Given the description of an element on the screen output the (x, y) to click on. 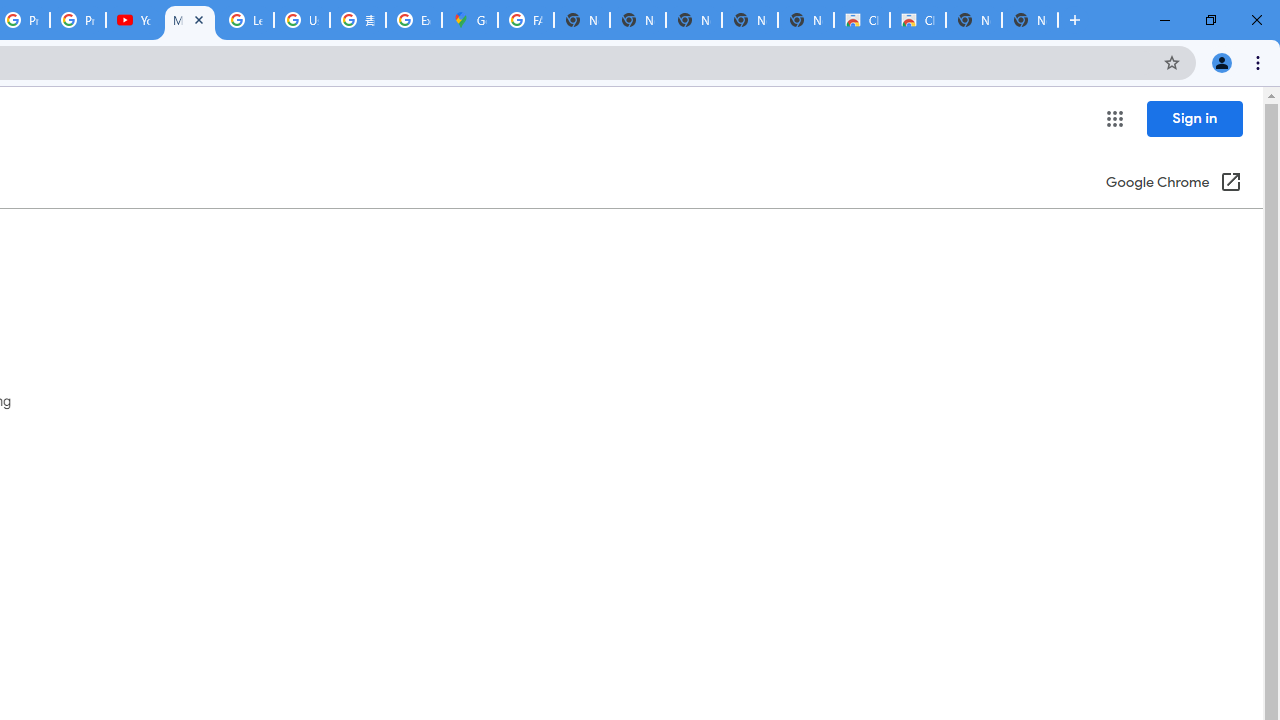
Manage passwords - Computer - Google Chrome Help (189, 20)
Classic Blue - Chrome Web Store (917, 20)
